Given the description of an element on the screen output the (x, y) to click on. 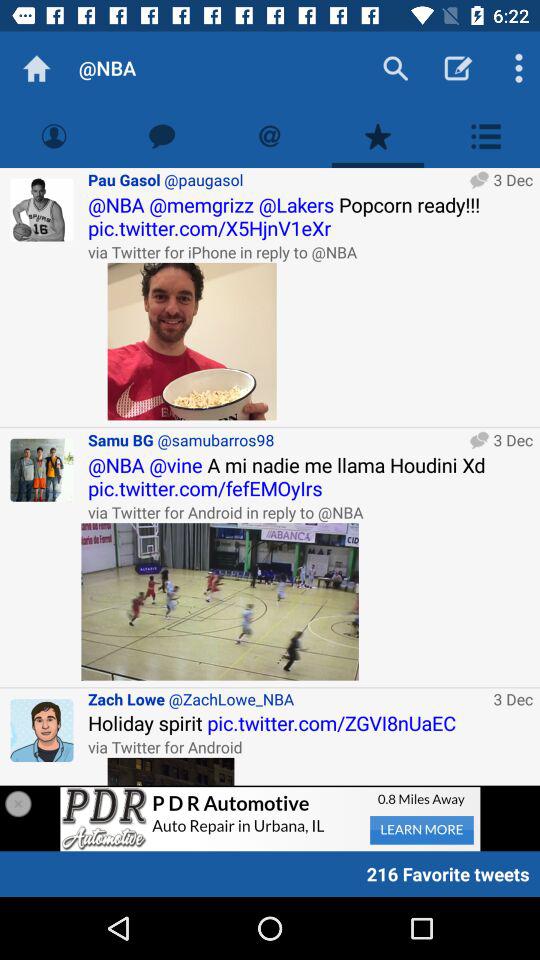
click on the photo (192, 341)
